Given the description of an element on the screen output the (x, y) to click on. 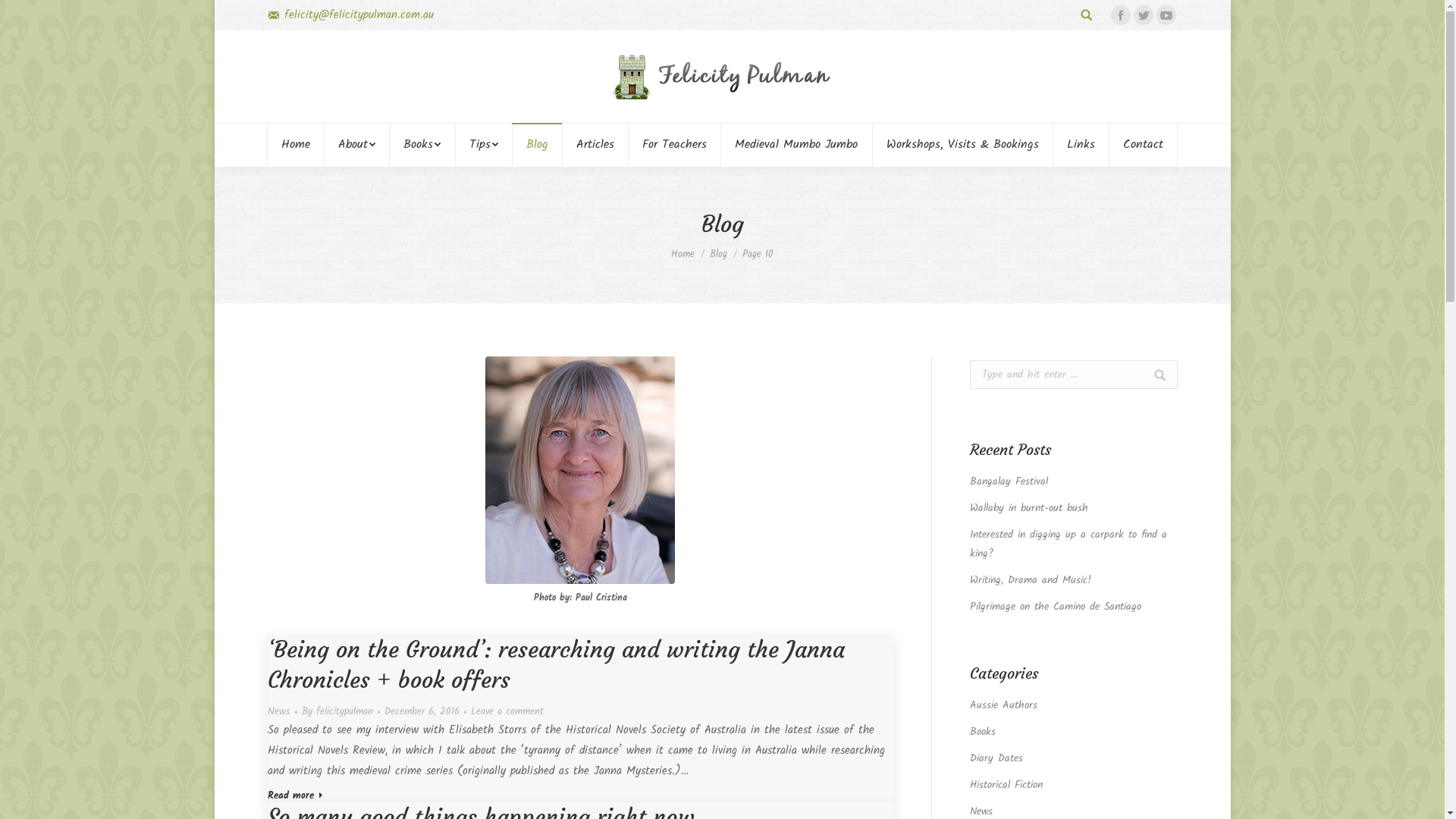
Medieval Mumbo Jumbo Element type: text (796, 144)
Historical Fiction Element type: text (1005, 784)
Leave a comment Element type: text (506, 711)
Aussie Authors Element type: text (1002, 705)
Books Element type: text (981, 731)
Wallaby in burnt-out bush Element type: text (1028, 507)
Contact Element type: text (1142, 144)
Facebook Element type: text (1119, 15)
Links Element type: text (1080, 144)
Books Element type: text (422, 144)
Articles Element type: text (594, 144)
By felicitypulman Element type: text (340, 711)
Bangalay Festival Element type: text (1008, 481)
Home Element type: text (682, 254)
Go! Element type: text (21, 14)
About Element type: text (356, 144)
  Element type: text (1086, 15)
Interested in digging up a carpark to find a king? Element type: text (1072, 544)
Diary Dates Element type: text (995, 758)
For Teachers Element type: text (674, 144)
Blog Element type: text (536, 144)
News Element type: text (277, 711)
Pilgrimage on the Camino de Santiago Element type: text (1054, 606)
YouTube Element type: text (1165, 15)
Twitter Element type: text (1142, 15)
Workshops, Visits & Bookings Element type: text (962, 144)
Writing, Drama and Music! Element type: text (1029, 580)
Read more Element type: text (293, 798)
Tips Element type: text (483, 144)
December 6, 2016 Element type: text (424, 711)
Home Element type: text (294, 144)
Go! Element type: text (1152, 383)
